Given the description of an element on the screen output the (x, y) to click on. 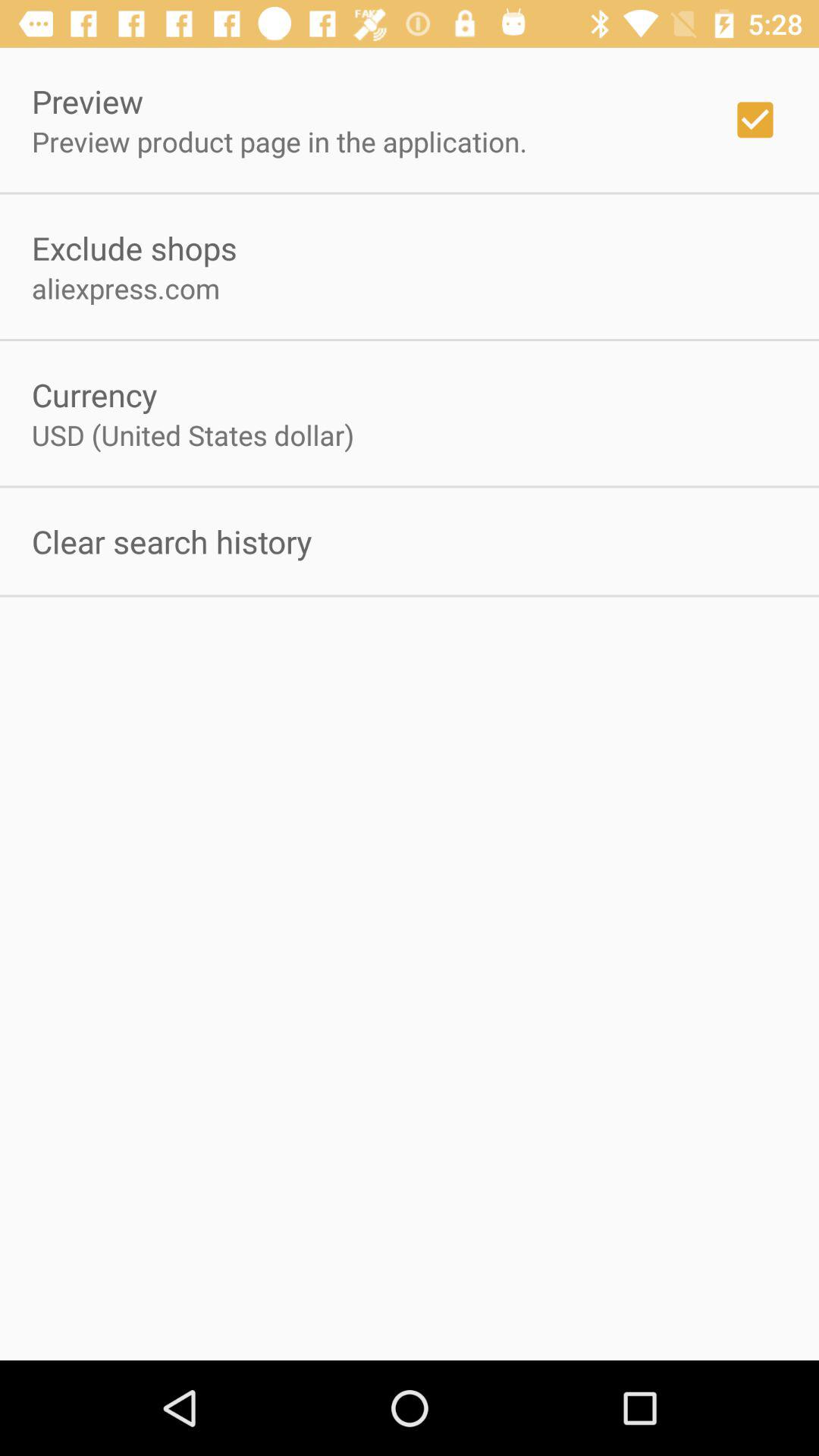
select the item at the top right corner (755, 119)
